Given the description of an element on the screen output the (x, y) to click on. 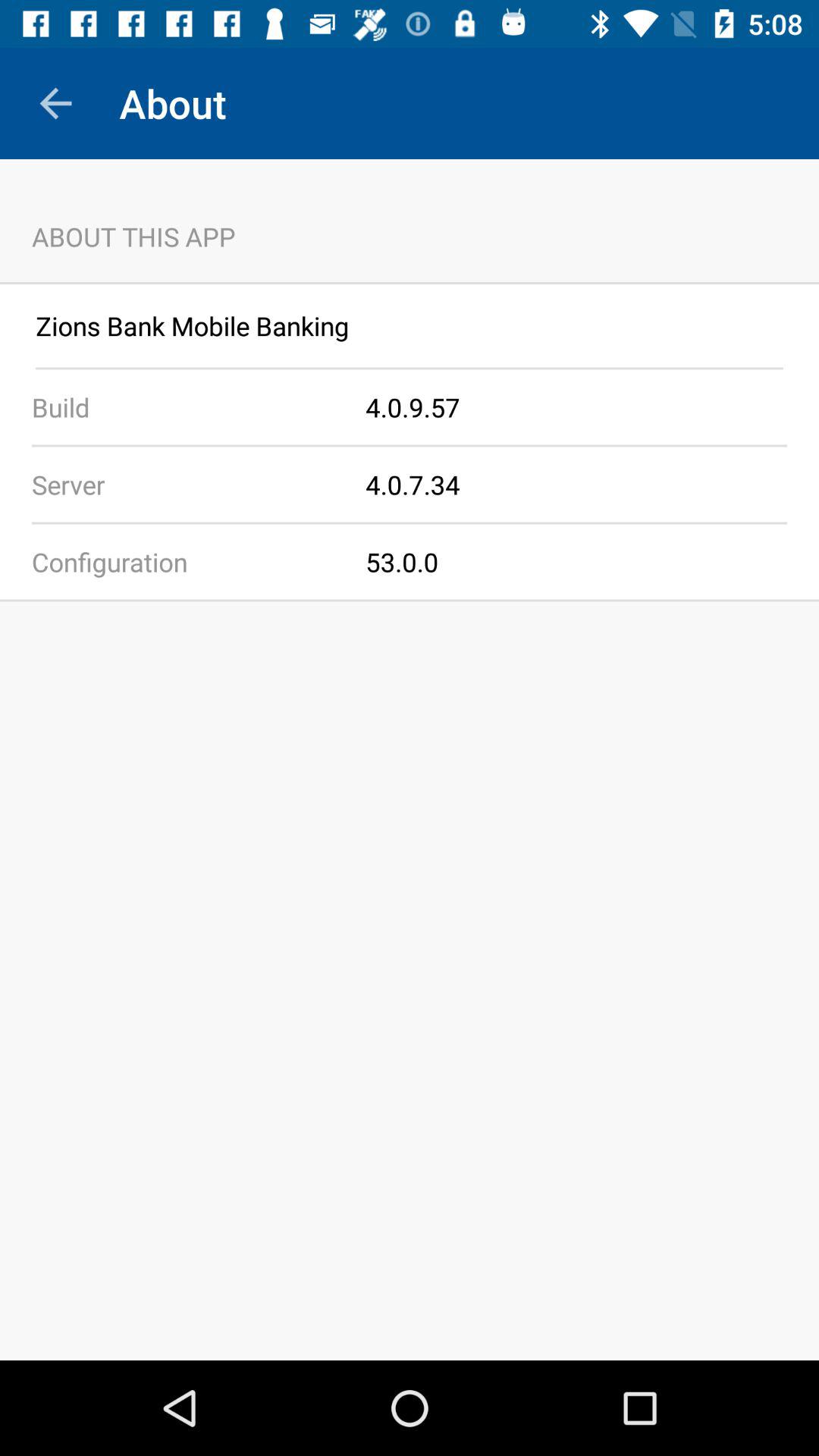
swipe until about this app (409, 220)
